Given the description of an element on the screen output the (x, y) to click on. 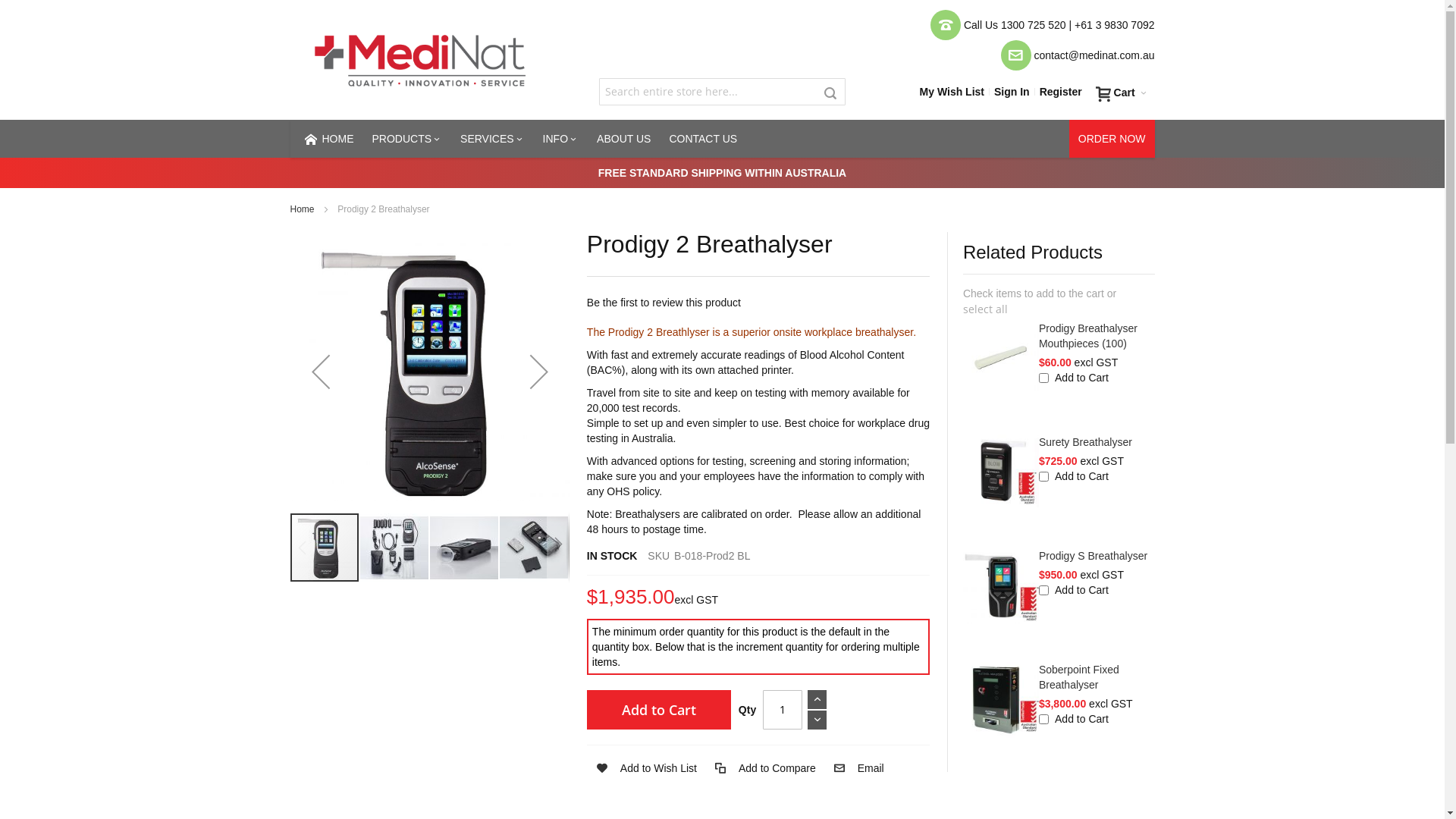
Register Element type: text (1060, 91)
SERVICES Element type: text (492, 138)
Qty Element type: hover (782, 709)
Home Element type: text (301, 208)
Prodigy Breathalyser Mouthpieces (100) Element type: text (1087, 335)
select all Element type: text (985, 308)
Add to Wish List Element type: text (641, 768)
Add to Cart Element type: text (658, 709)
Medinat Logo Element type: hover (422, 59)
INFO Element type: text (560, 138)
contact@medinat.com.au Element type: text (1094, 55)
Add to Compare Element type: text (760, 768)
+61 3 9830 7092 Element type: text (1114, 24)
Surety Breathalyser Element type: text (1085, 442)
PRODUCTS Element type: text (406, 138)
Email Element type: text (854, 768)
CONTACT US Element type: text (702, 138)
1300 725 520 Element type: text (1033, 24)
Search Element type: hover (829, 92)
My Wish List Element type: text (951, 91)
ABOUT US Element type: text (623, 138)
workplace drug testing in Australia Element type: text (757, 430)
HOME Element type: text (325, 138)
Be the first to review this product Element type: text (663, 302)
ORDER NOW Element type: text (1111, 138)
Sign In Element type: text (1011, 91)
Prodigy S Breathalyser Element type: text (1092, 555)
Soberpoint Fixed Breathalyser Element type: text (1078, 676)
